Given the description of an element on the screen output the (x, y) to click on. 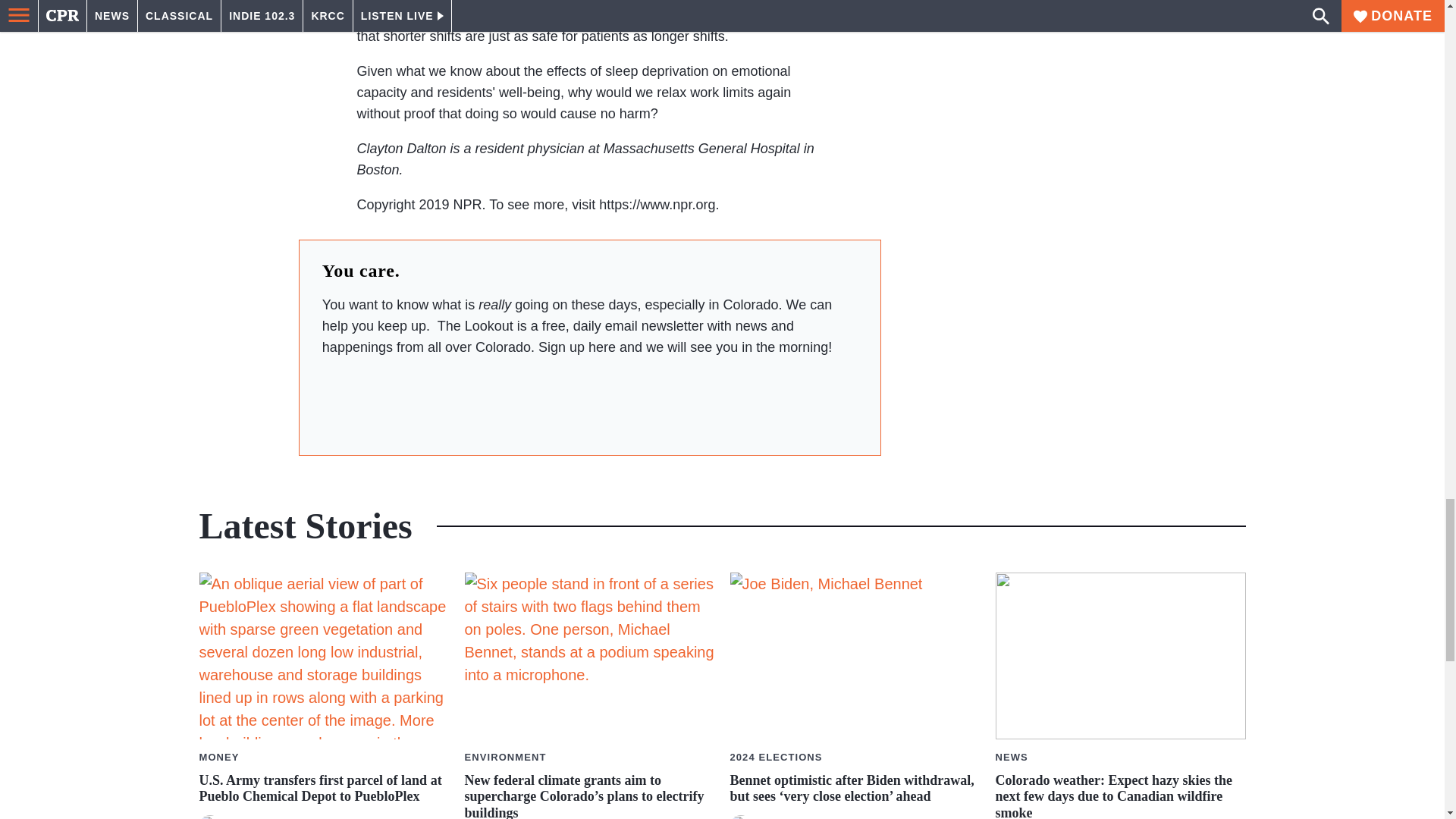
newsArticleSignup (589, 400)
